Given the description of an element on the screen output the (x, y) to click on. 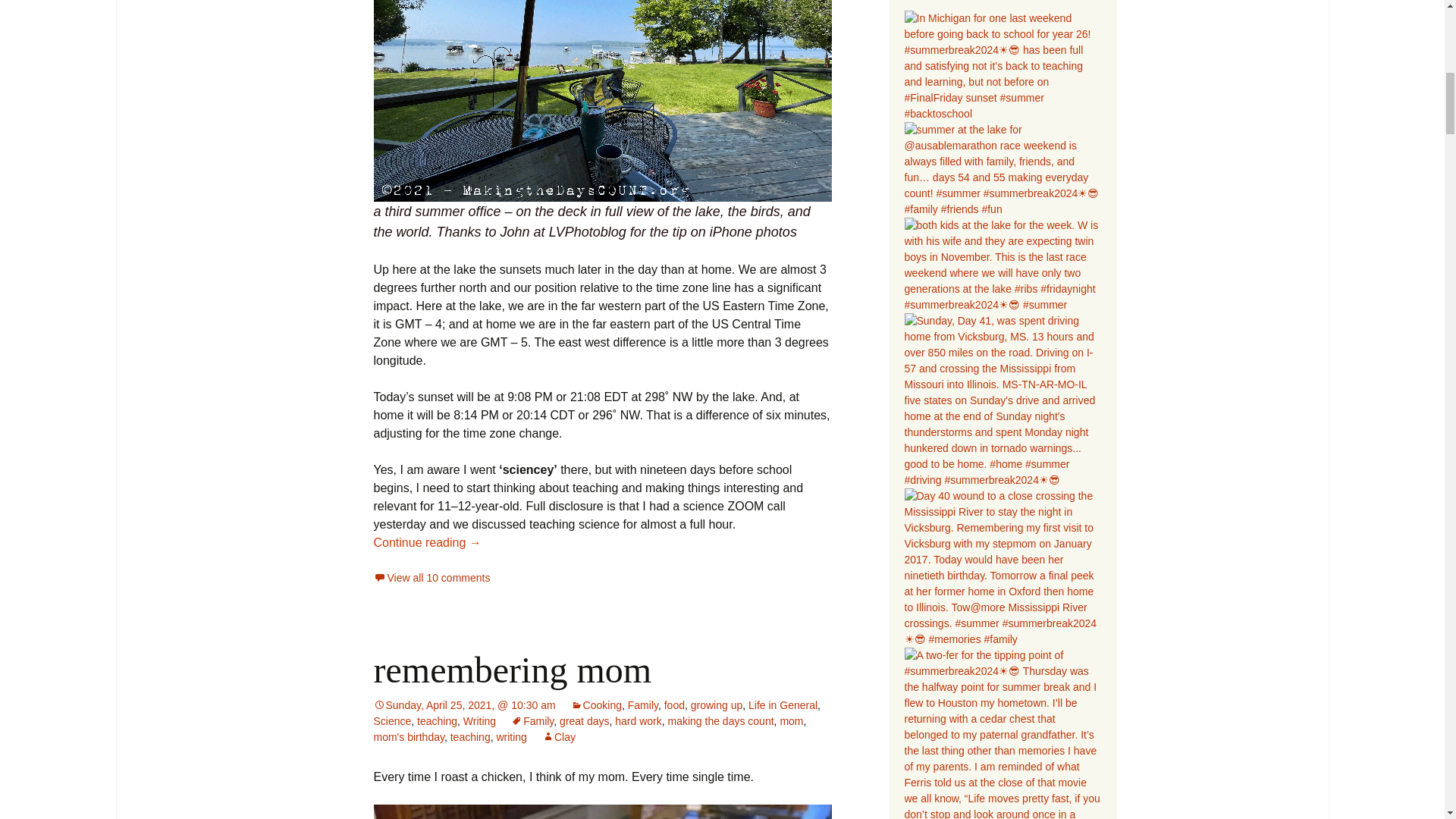
Permalink to remembering mom (463, 705)
View all posts by Clay (558, 736)
remembering mom (511, 670)
View all 10 comments (430, 577)
Cooking (595, 705)
Family (642, 705)
